Given the description of an element on the screen output the (x, y) to click on. 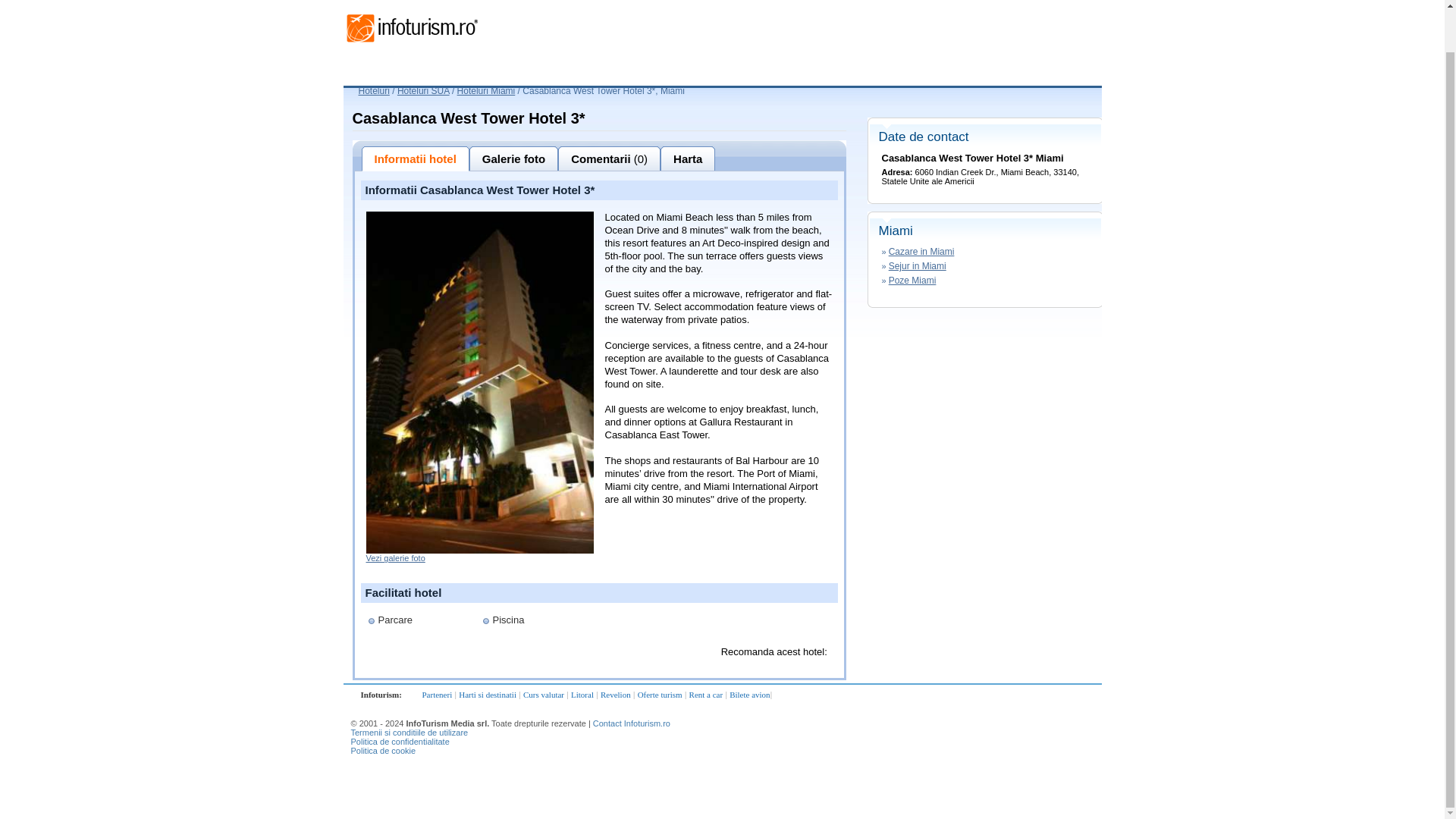
Poze Miami (912, 280)
Bilete avion (749, 694)
Poze Miami (912, 280)
Sejur in Miami (917, 266)
Contact Infoturism.ro (630, 723)
Politica de cookie (382, 750)
Sejur in Miami (917, 266)
Hoteluri SUA, Cauta hotel in SUA (423, 90)
Vezi galerie foto (395, 557)
Revelion (614, 694)
Politica de confidentialitate (399, 741)
Parteneri (436, 694)
Cazare in Miami (921, 251)
Curs valutar (543, 694)
Hoteluri Miami (486, 90)
